Given the description of an element on the screen output the (x, y) to click on. 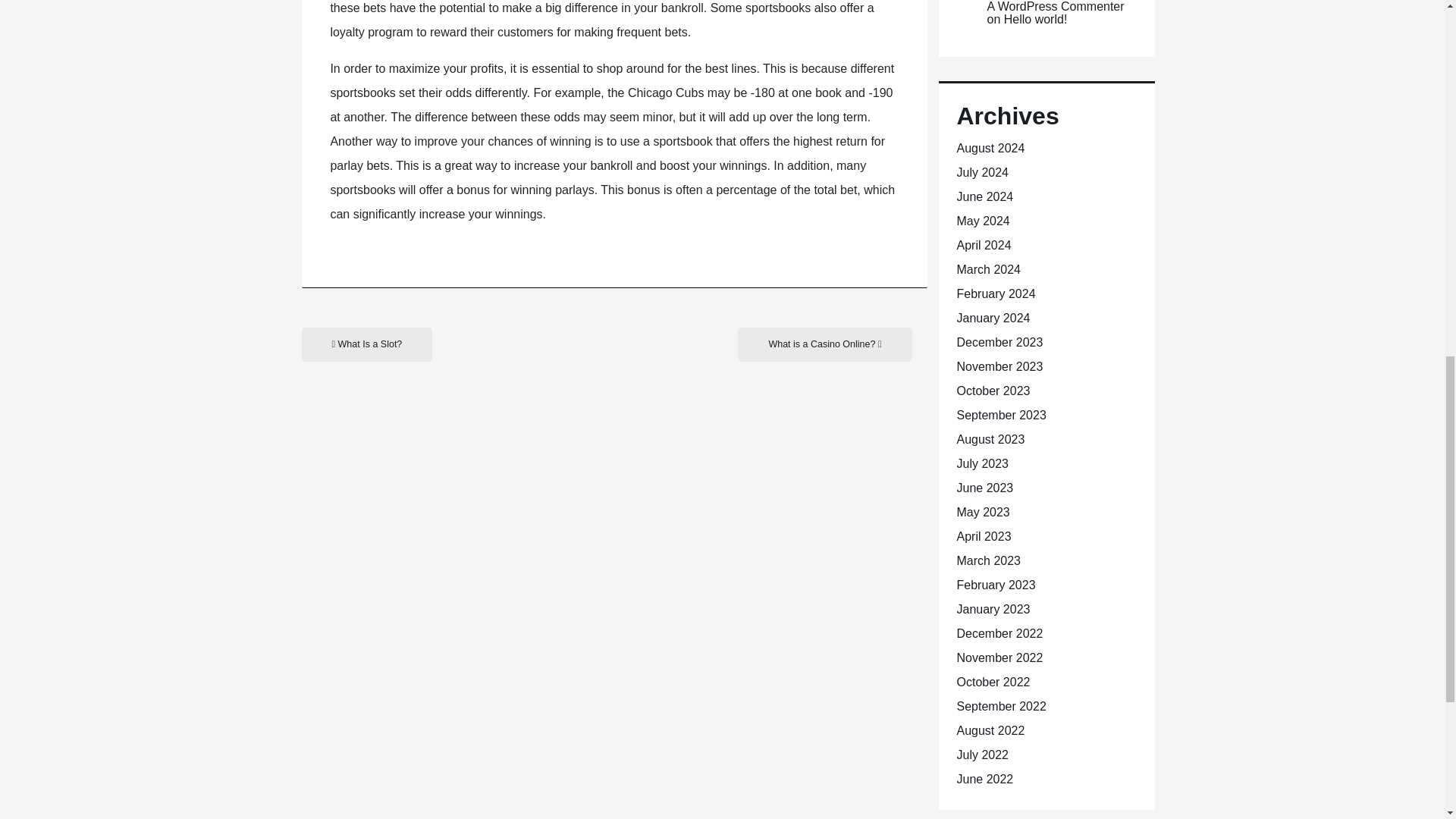
June 2023 (984, 487)
A WordPress Commenter (1055, 6)
What Is a Slot? (366, 344)
August 2024 (990, 147)
January 2023 (993, 608)
October 2022 (993, 681)
September 2023 (1001, 414)
September 2022 (1001, 706)
April 2024 (983, 245)
Hello world! (1035, 19)
